Given the description of an element on the screen output the (x, y) to click on. 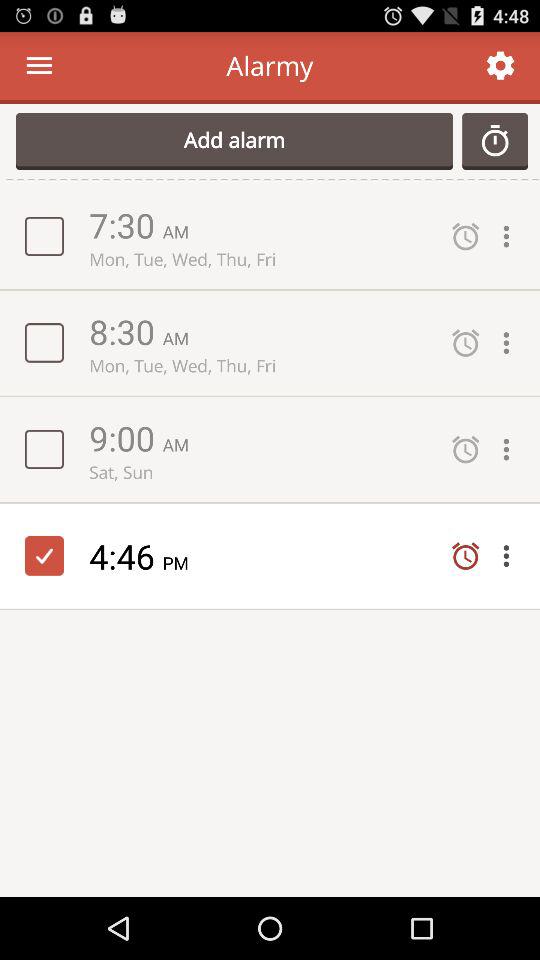
select the icon next to 4:46 icon (181, 562)
